Given the description of an element on the screen output the (x, y) to click on. 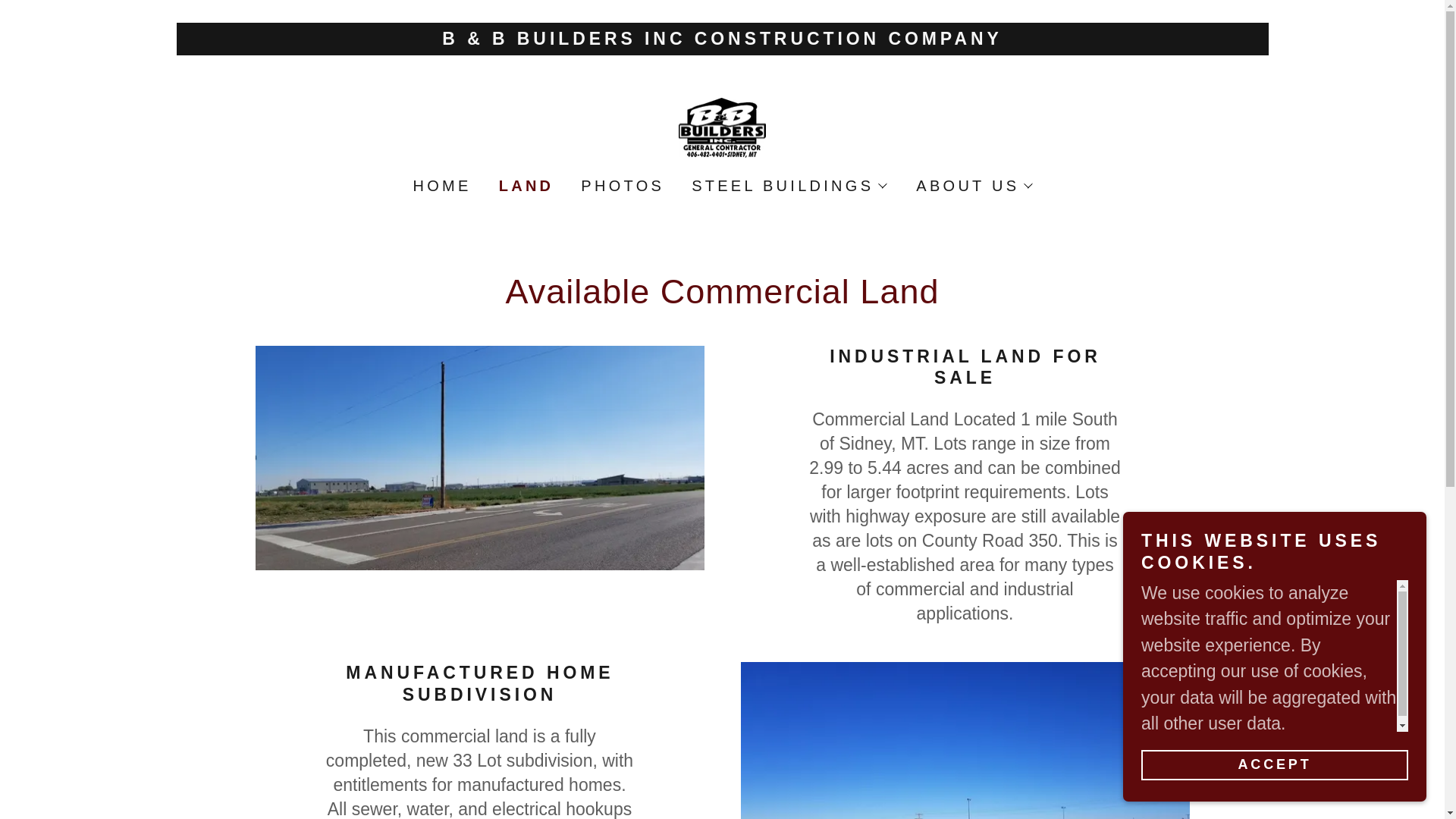
PHOTOS (620, 185)
ABOUT US (972, 185)
HOME (441, 185)
ACCEPT (1274, 764)
STEEL BUILDINGS (788, 185)
LAND (525, 185)
